Given the description of an element on the screen output the (x, y) to click on. 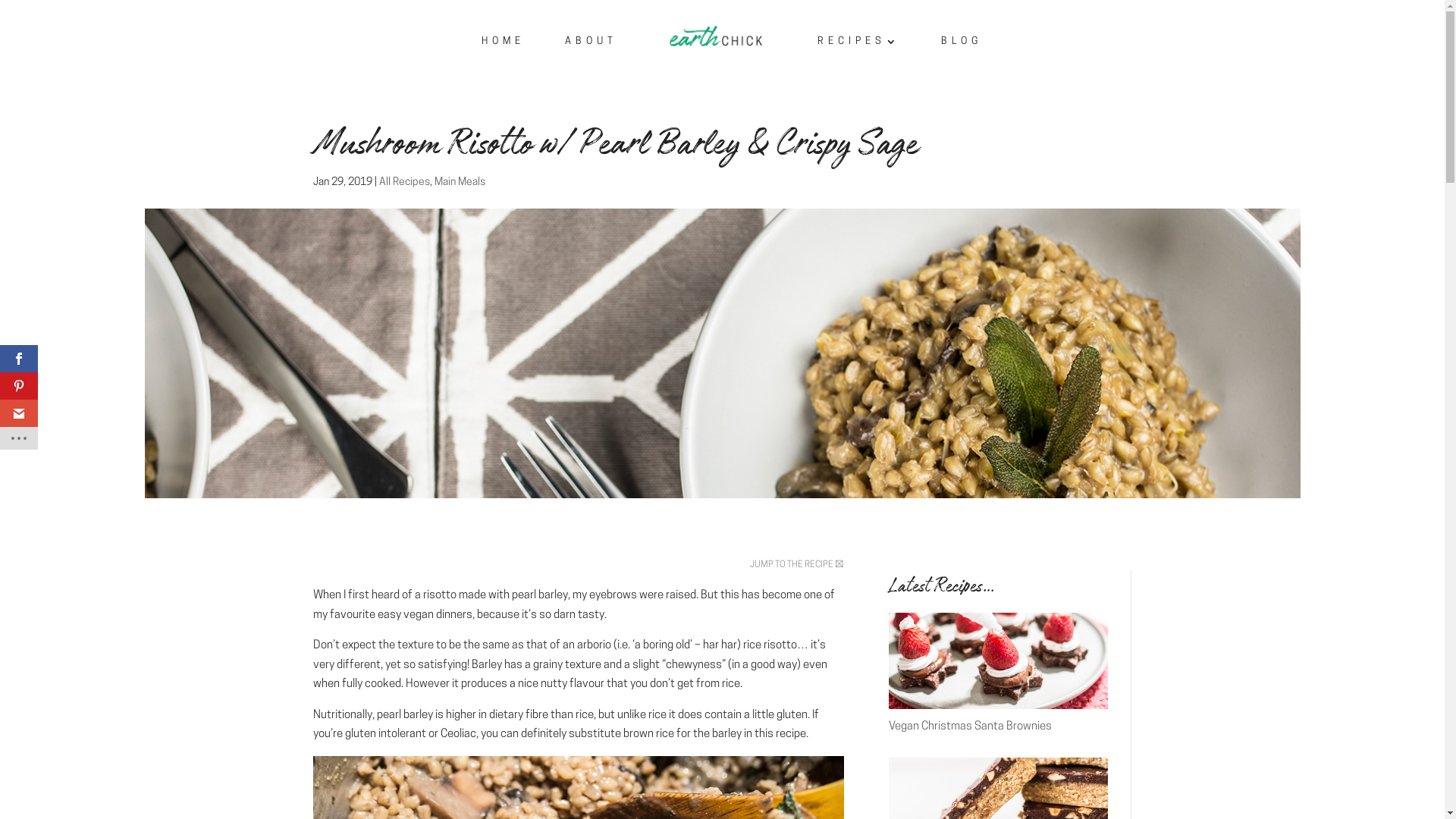
Vegan Christmas Santa Brownies Element type: text (969, 726)
RECIPES Element type: text (858, 54)
All Recipes Element type: text (404, 182)
BLOG Element type: text (961, 54)
ABOUT Element type: text (590, 54)
Main Meals Element type: text (458, 182)
HOME Element type: text (502, 54)
